Given the description of an element on the screen output the (x, y) to click on. 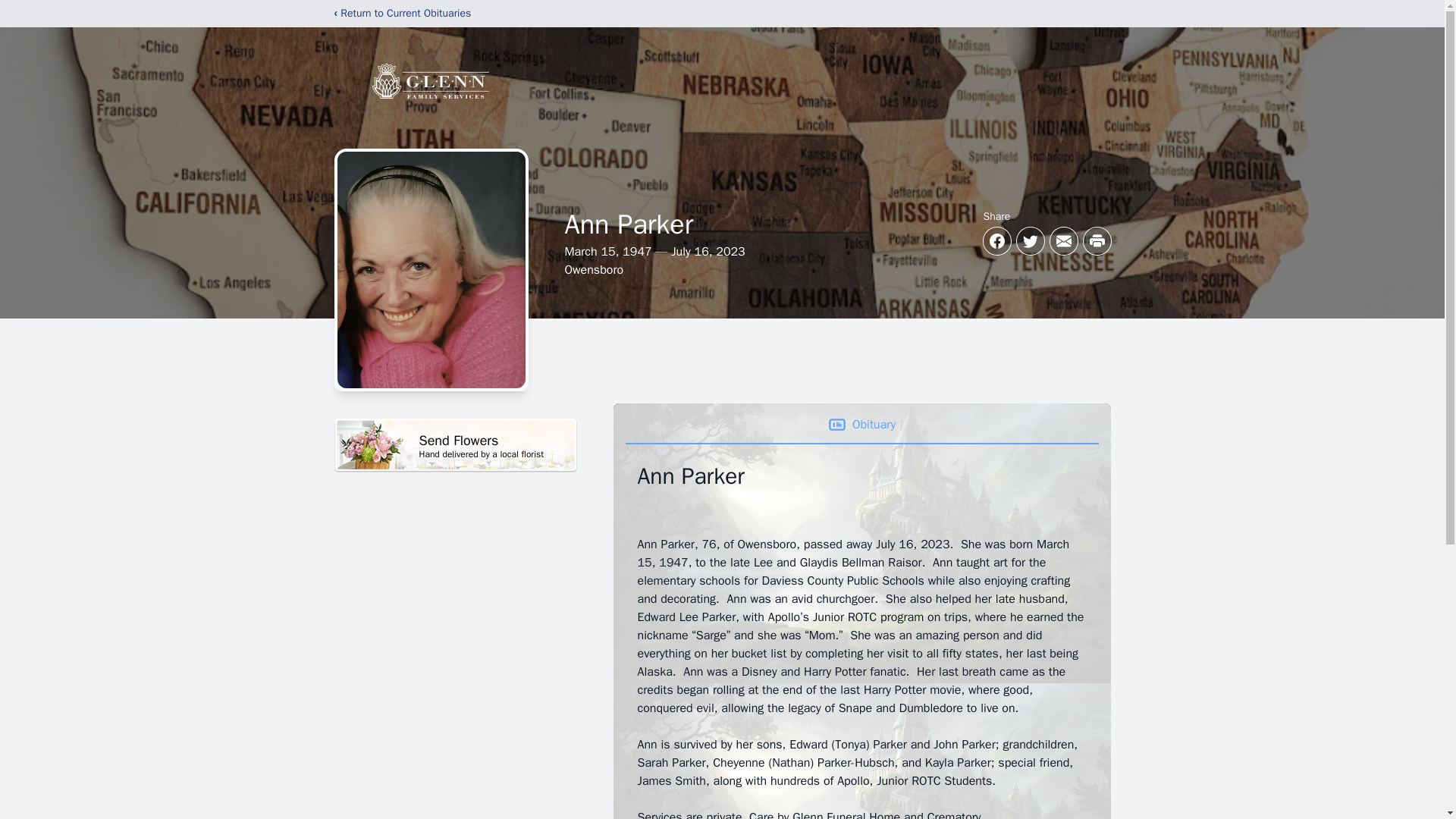
Obituary (860, 425)
